Given the description of an element on the screen output the (x, y) to click on. 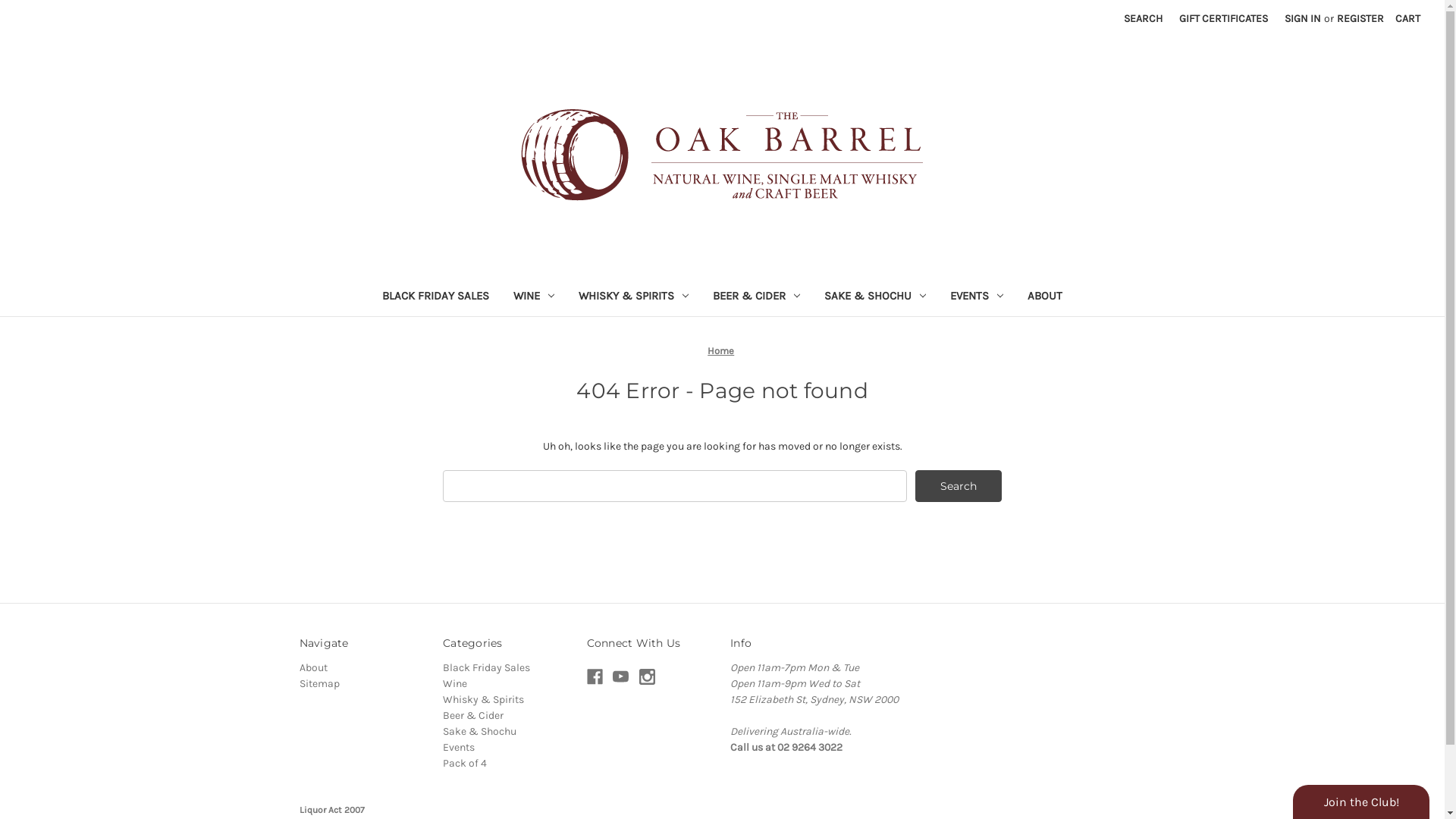
BLACK FRIDAY SALES Element type: text (435, 297)
Sitemap Element type: text (318, 683)
EVENTS Element type: text (976, 297)
Facebook Element type: hover (594, 676)
GIFT CERTIFICATES Element type: text (1223, 18)
SIGN IN Element type: text (1302, 18)
Whisky & Spirits Element type: text (483, 699)
WHISKY & SPIRITS Element type: text (633, 297)
Home Element type: text (720, 350)
Sake & Shochu Element type: text (479, 730)
WINE Element type: text (533, 297)
SEARCH Element type: text (1142, 18)
Search Element type: text (958, 486)
Pack of 4 Element type: text (464, 762)
Youtube Element type: hover (620, 676)
Events Element type: text (458, 746)
The Oak Barrel Element type: hover (721, 155)
ABOUT Element type: text (1044, 297)
CART Element type: text (1407, 18)
BEER & CIDER Element type: text (756, 297)
Beer & Cider Element type: text (472, 715)
REGISTER Element type: text (1360, 18)
Instagram Element type: hover (647, 676)
SAKE & SHOCHU Element type: text (875, 297)
Wine Element type: text (454, 683)
Black Friday Sales Element type: text (486, 667)
About Element type: text (312, 667)
